Given the description of an element on the screen output the (x, y) to click on. 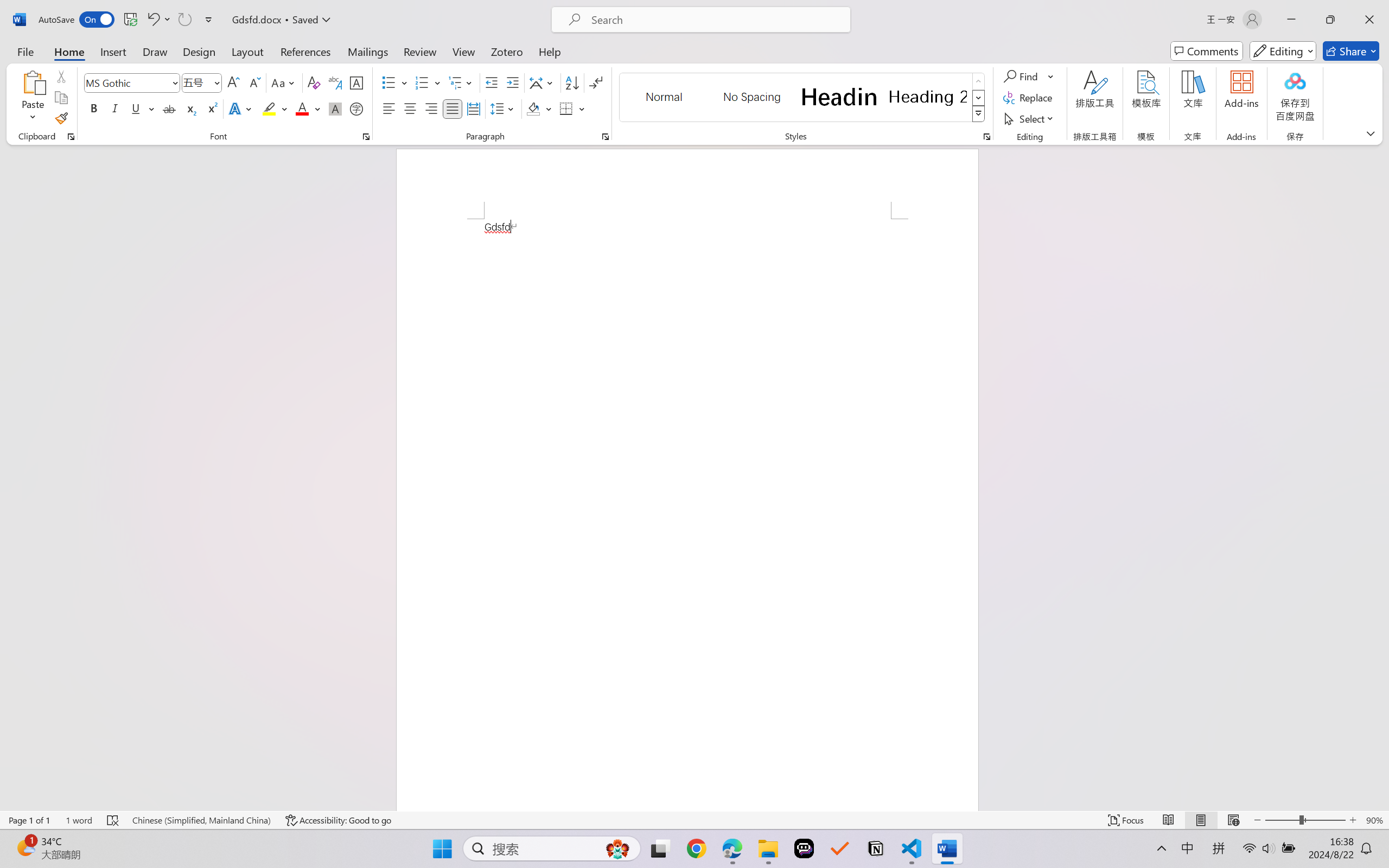
Undo Font Formatting (158, 19)
